Given the description of an element on the screen output the (x, y) to click on. 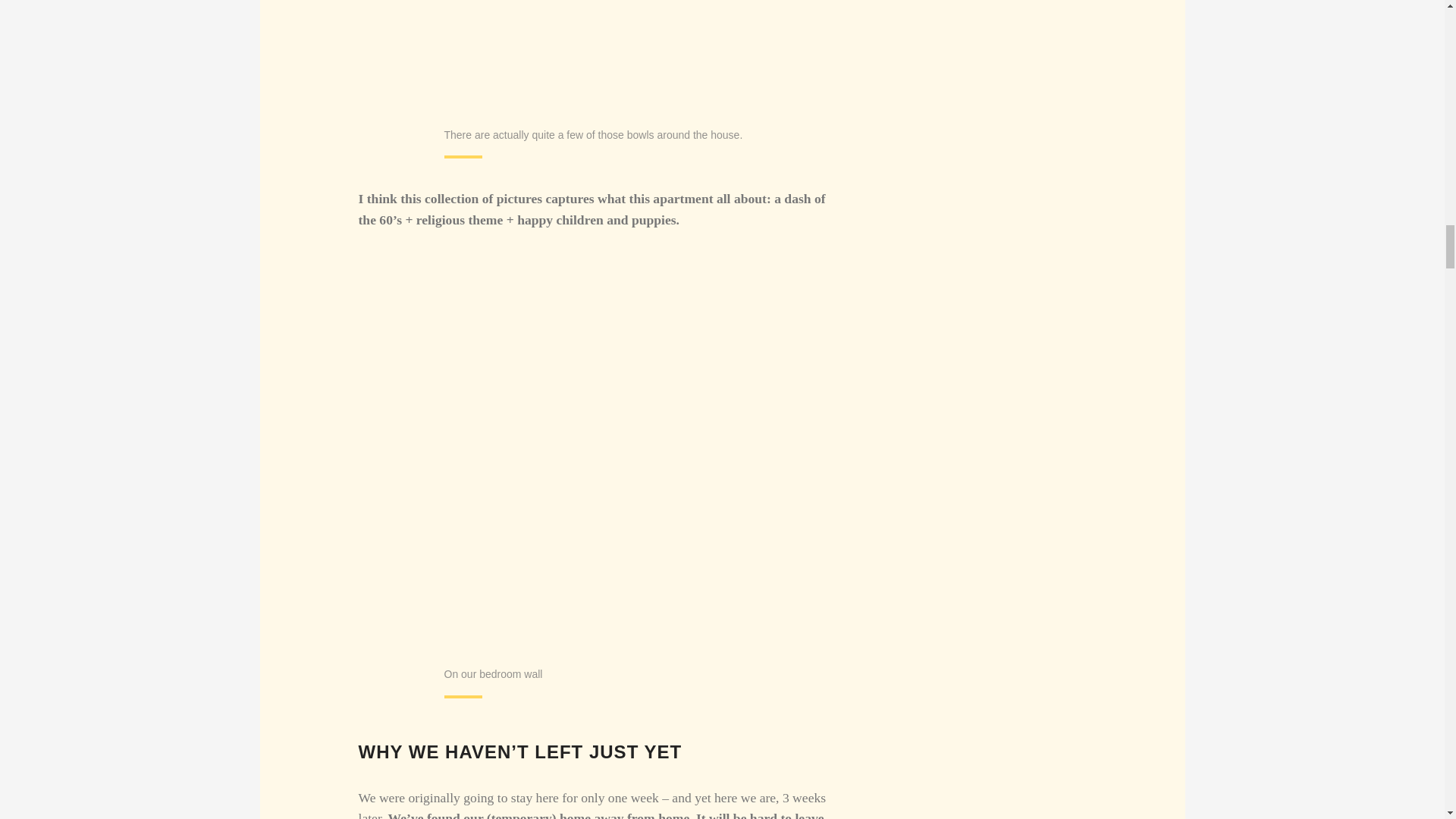
Knick knack shelf, Banos, Ecuador (589, 53)
